Given the description of an element on the screen output the (x, y) to click on. 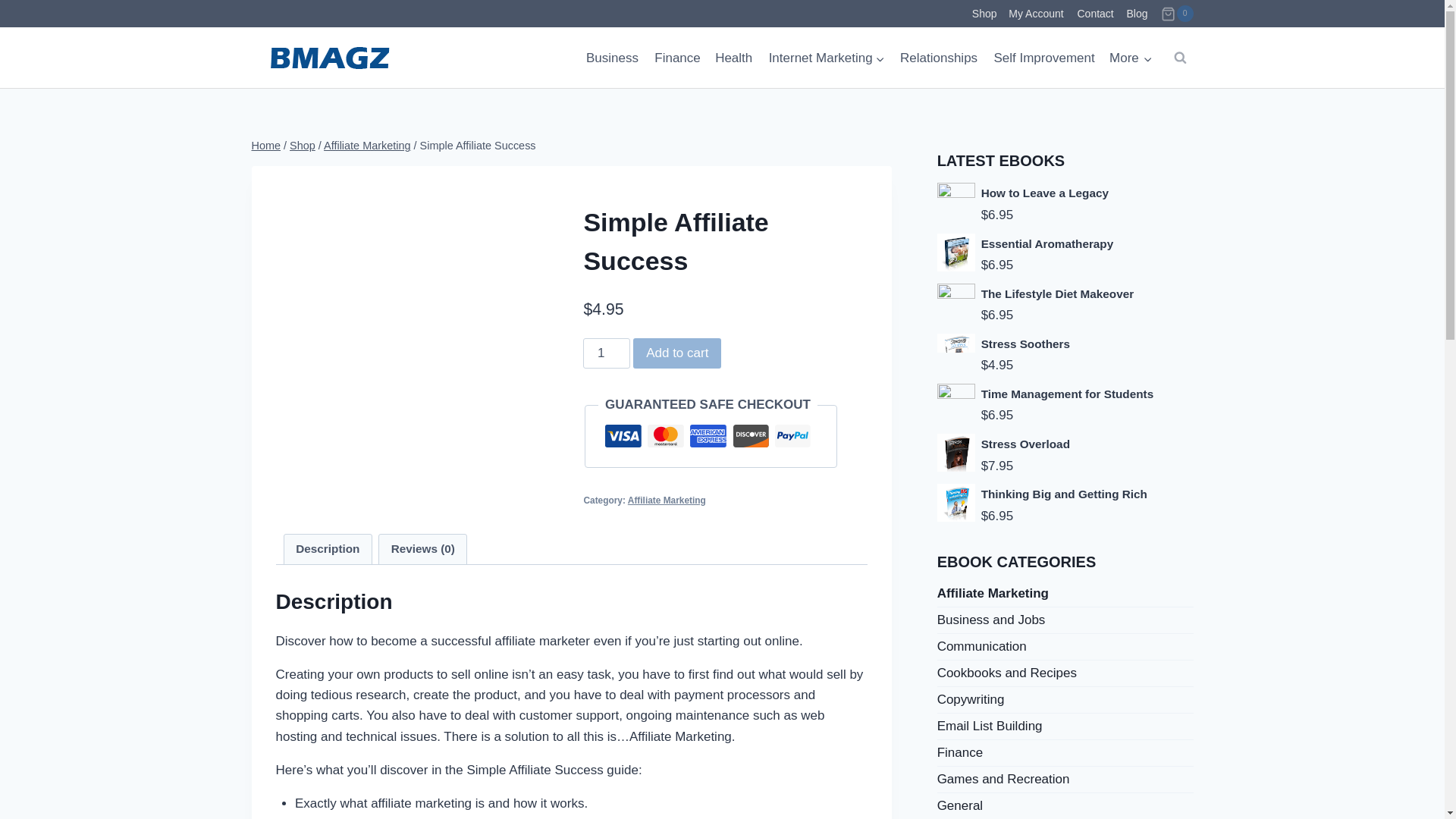
Internet Marketing (826, 58)
Qty (606, 353)
Affiliate Marketing (666, 500)
Add to cart (676, 353)
Contact (1094, 13)
Health (733, 58)
Blog (1136, 13)
Relationships (938, 58)
Home (266, 145)
1 (606, 353)
